Given the description of an element on the screen output the (x, y) to click on. 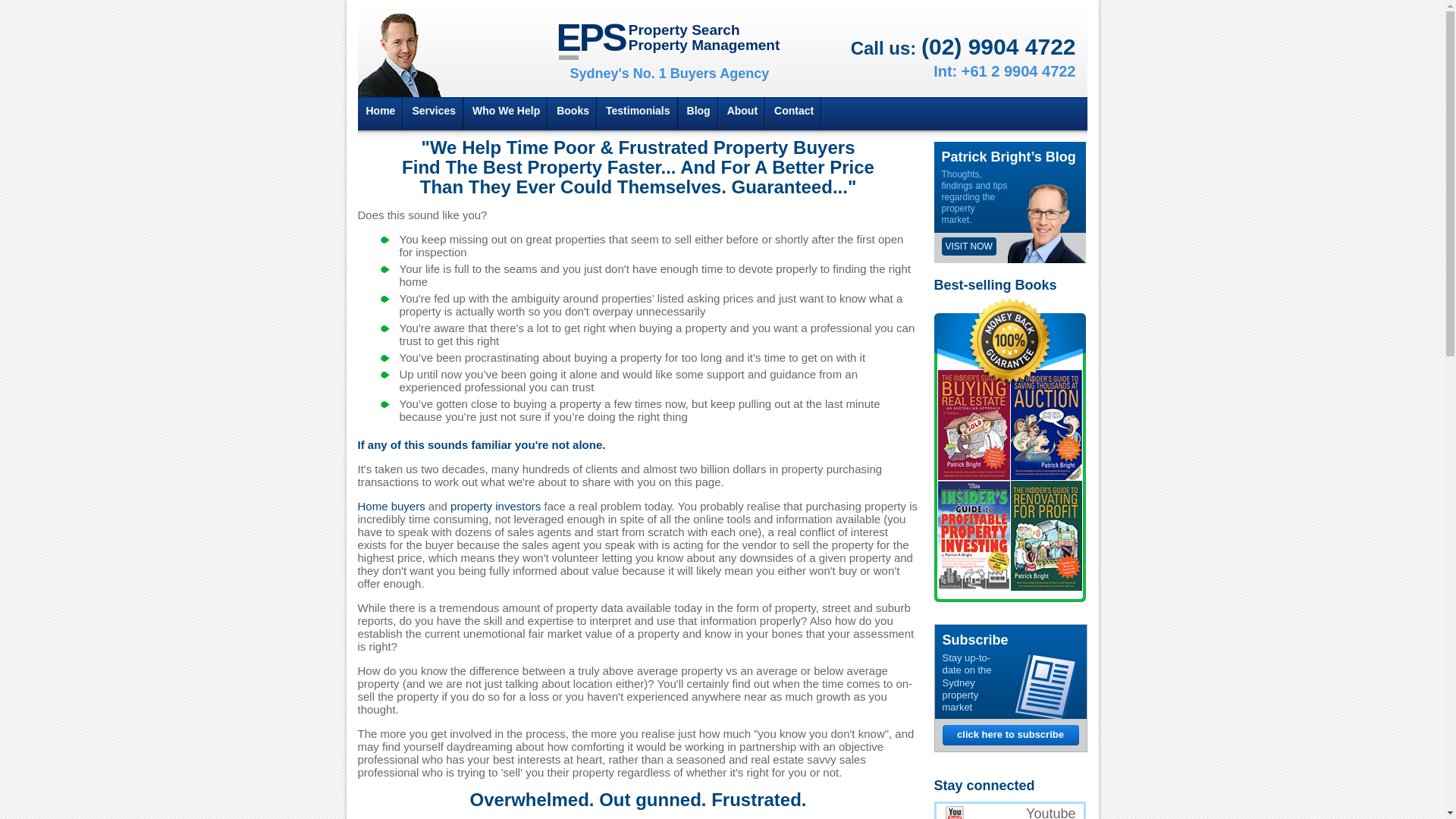
Home buyers Element type: text (391, 505)
Testimonials Element type: text (637, 113)
Who We Help Element type: text (506, 113)
Books Element type: text (572, 113)
Services Element type: text (433, 113)
Jump to Navigation Element type: text (722, 2)
Home Element type: text (380, 113)
About Element type: text (741, 113)
click here to subscribe Element type: text (1009, 734)
Contact Element type: text (793, 113)
Blog Element type: text (698, 113)
VISIT NOW Element type: text (968, 246)
property investors Element type: text (495, 505)
EPS Property Search
Property Management Element type: text (668, 38)
